Given the description of an element on the screen output the (x, y) to click on. 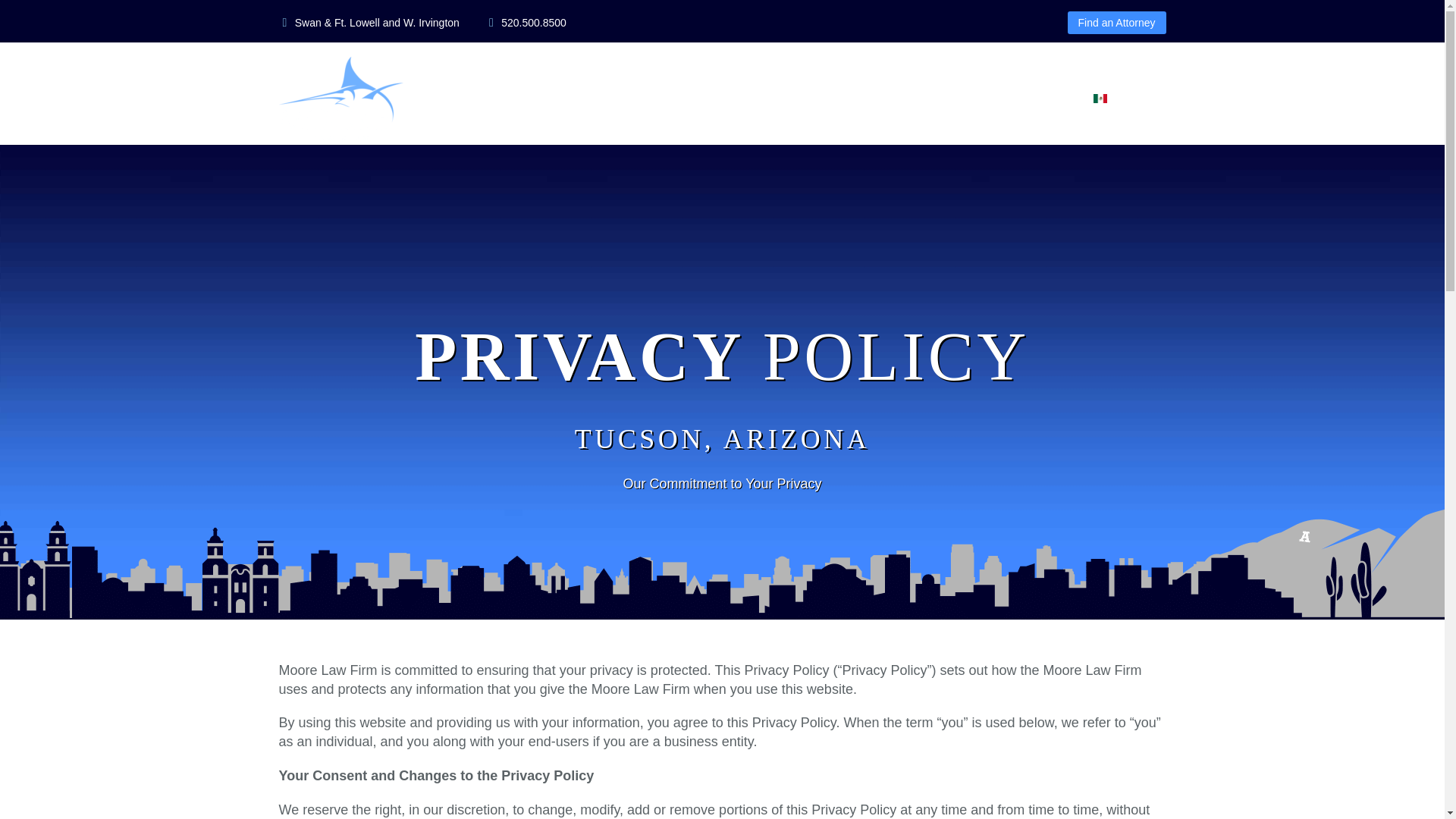
Find an Attorney (1116, 22)
HOME PAGE (599, 99)
PRACTICE AREAS (717, 99)
ABOUT US (828, 99)
520.500.8500 (533, 22)
